Given the description of an element on the screen output the (x, y) to click on. 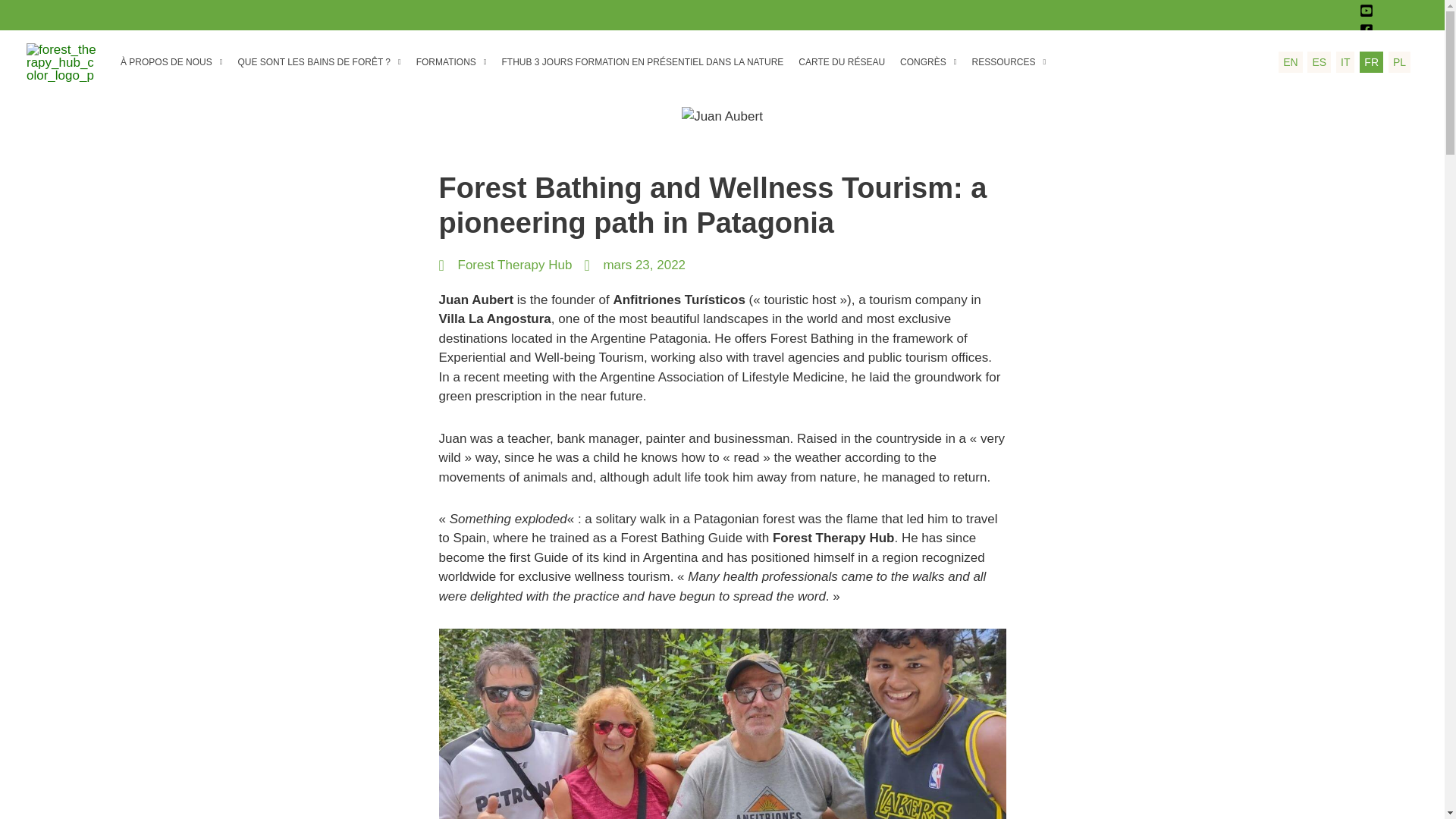
FORMATIONS (452, 66)
Juan Aubert (721, 116)
RESSOURCES (1008, 66)
